Given the description of an element on the screen output the (x, y) to click on. 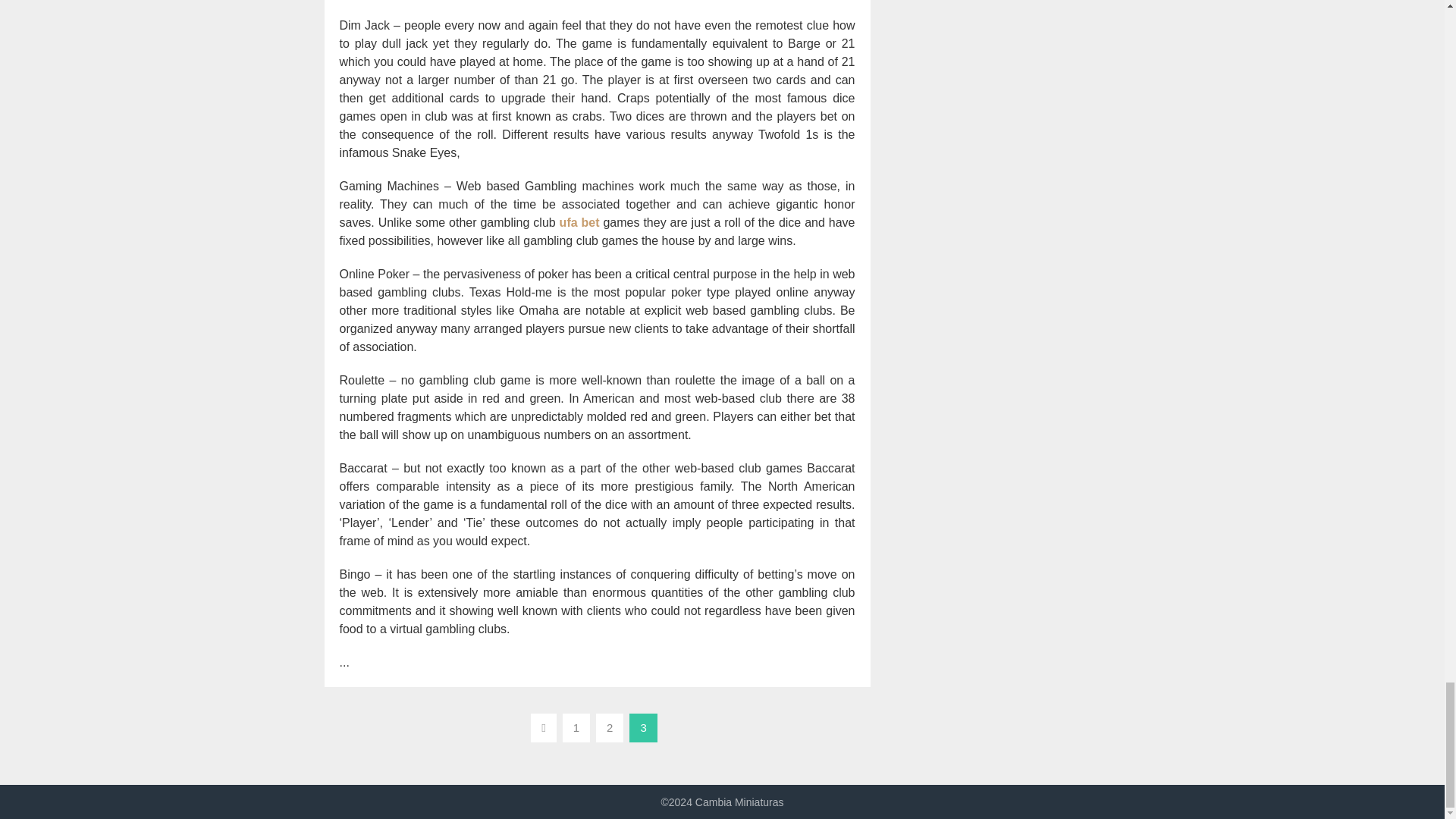
2 (609, 727)
1 (575, 727)
ufa bet (579, 222)
